Given the description of an element on the screen output the (x, y) to click on. 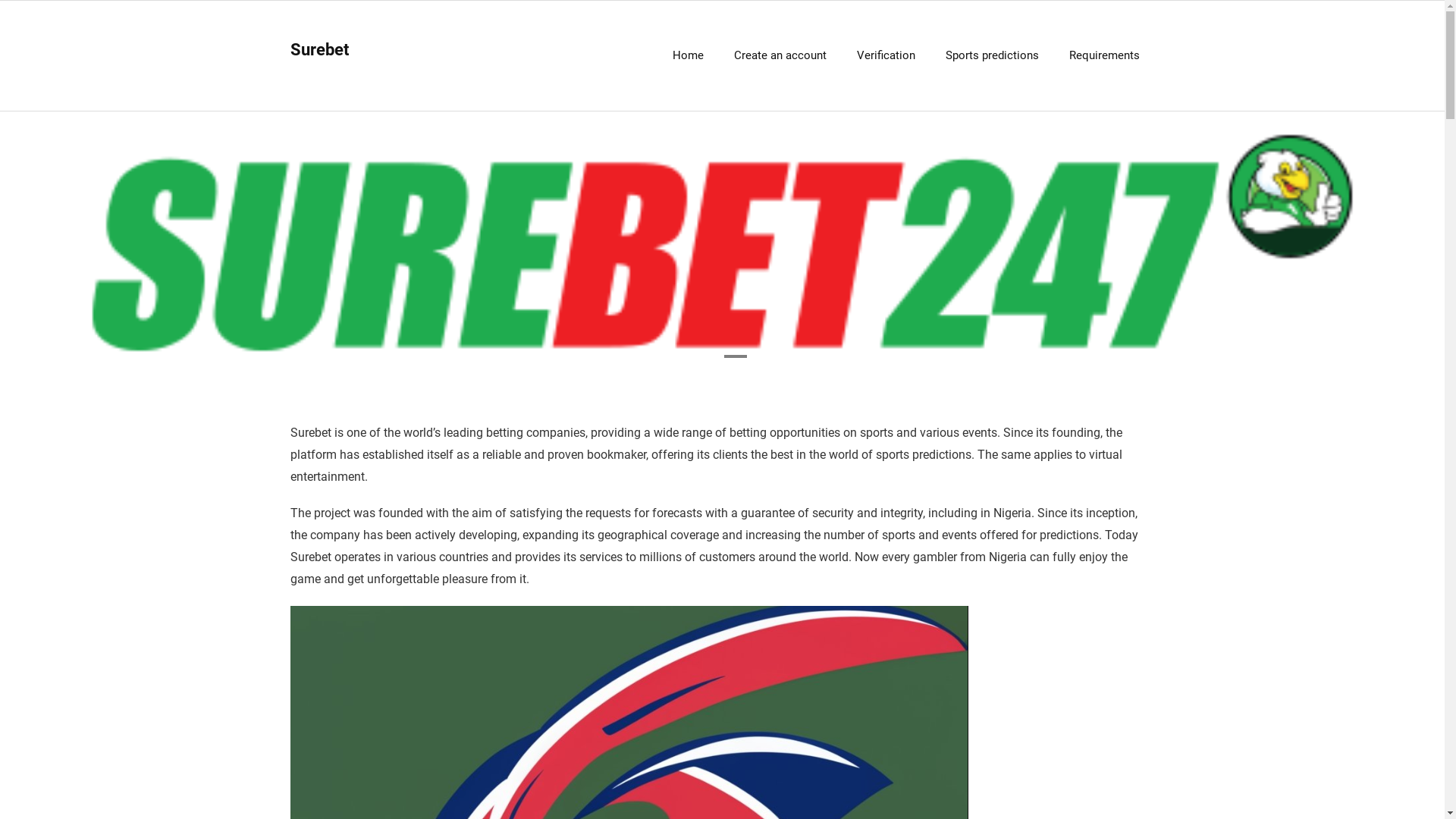
Home Element type: text (687, 55)
1 Element type: text (708, 355)
Create an account Element type: text (779, 55)
Verification Element type: text (885, 55)
Requirements Element type: text (1104, 55)
Sports predictions Element type: text (991, 55)
2 Element type: text (734, 355)
Surebet Element type: text (318, 50)
